Given the description of an element on the screen output the (x, y) to click on. 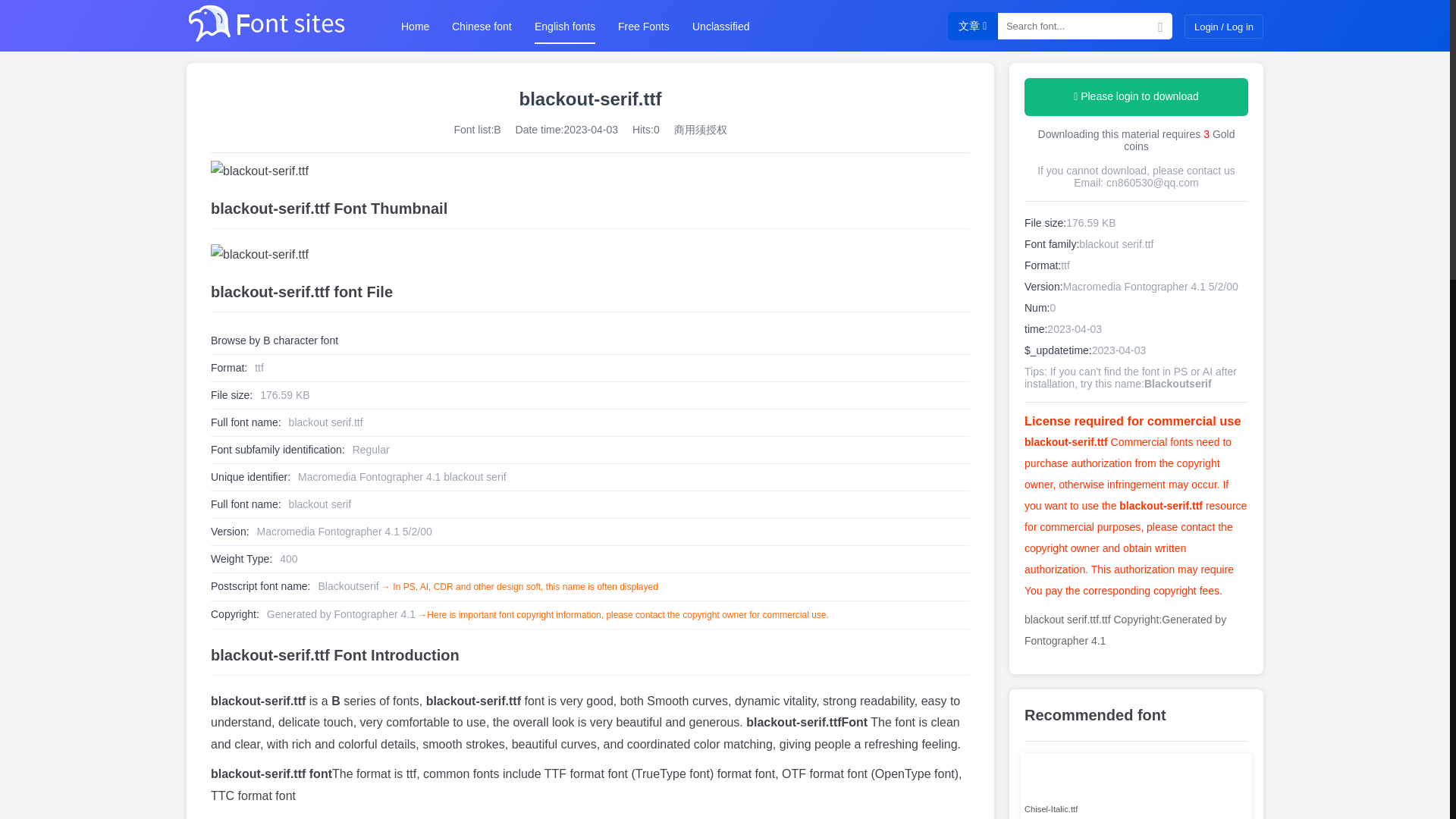
blackout-serif.ttf (590, 255)
blackout-serif.ttf (590, 171)
Chinese font (481, 26)
